Given the description of an element on the screen output the (x, y) to click on. 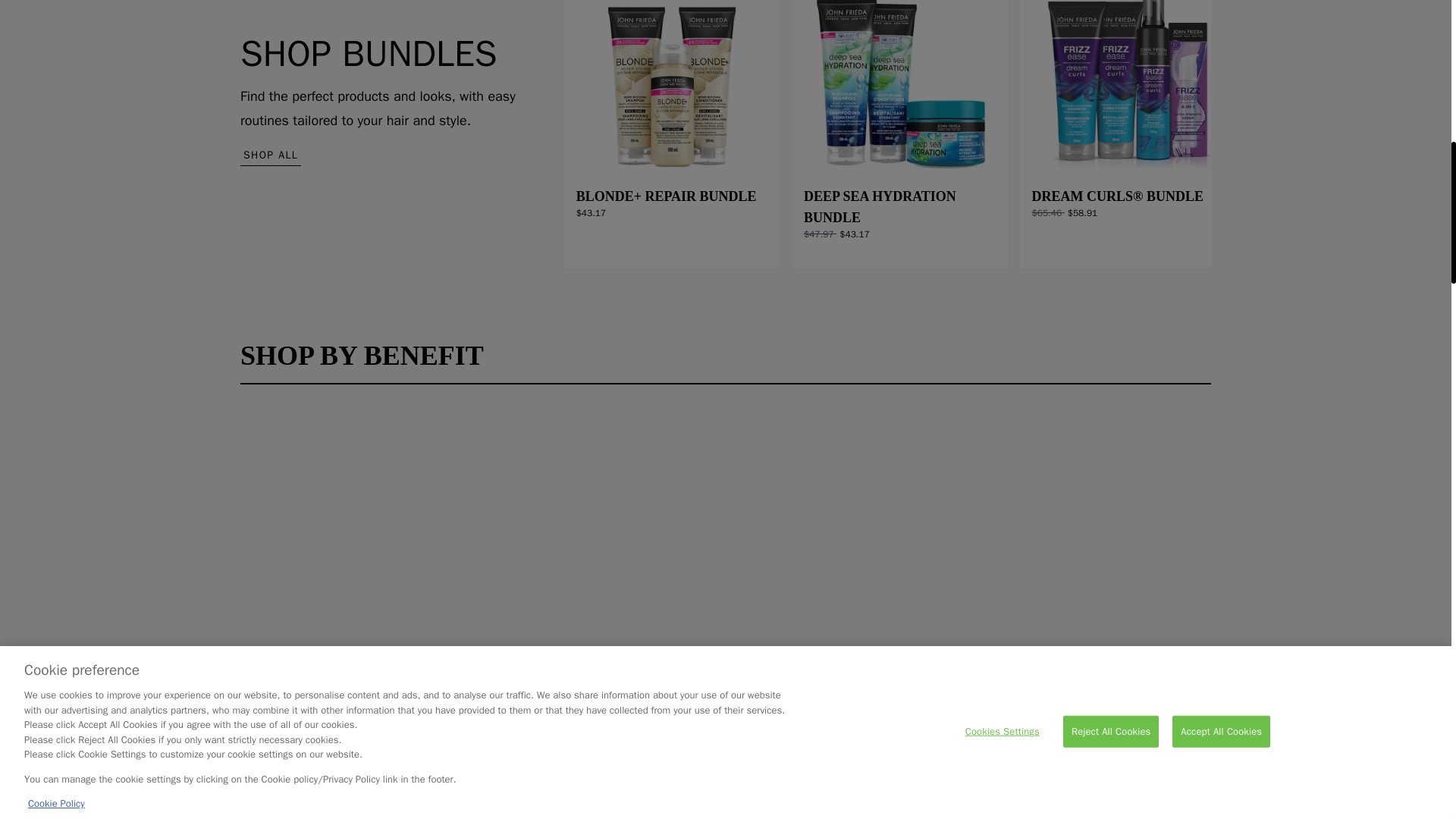
SHOP BY BENEFIT (725, 362)
